Given the description of an element on the screen output the (x, y) to click on. 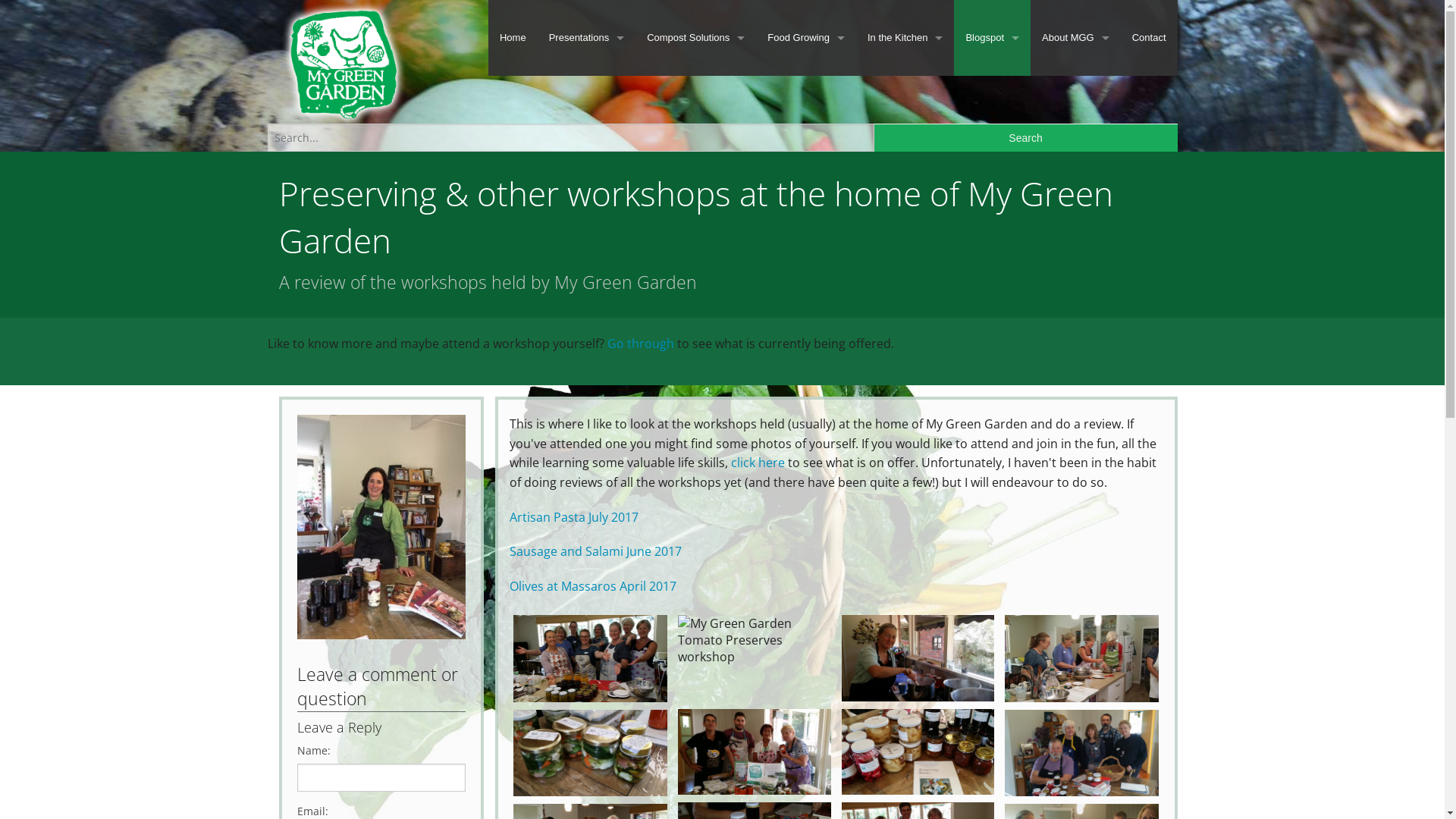
Presentations Element type: text (586, 37)
Artisan Pasta July 2017  Element type: text (575, 516)
Sausage and Salami June 2017 Element type: text (595, 550)
Blogspot Element type: text (991, 37)
Search Element type: text (1025, 138)
Go through Element type: text (639, 343)
Compost Solutions Element type: text (695, 37)
Contact Element type: text (1148, 37)
Home Element type: text (512, 37)
click here Element type: text (757, 462)
Olives at Massaros April 2017 Element type: text (592, 585)
Food Growing Element type: text (806, 37)
About MGG Element type: text (1075, 37)
In the Kitchen Element type: text (905, 37)
